Given the description of an element on the screen output the (x, y) to click on. 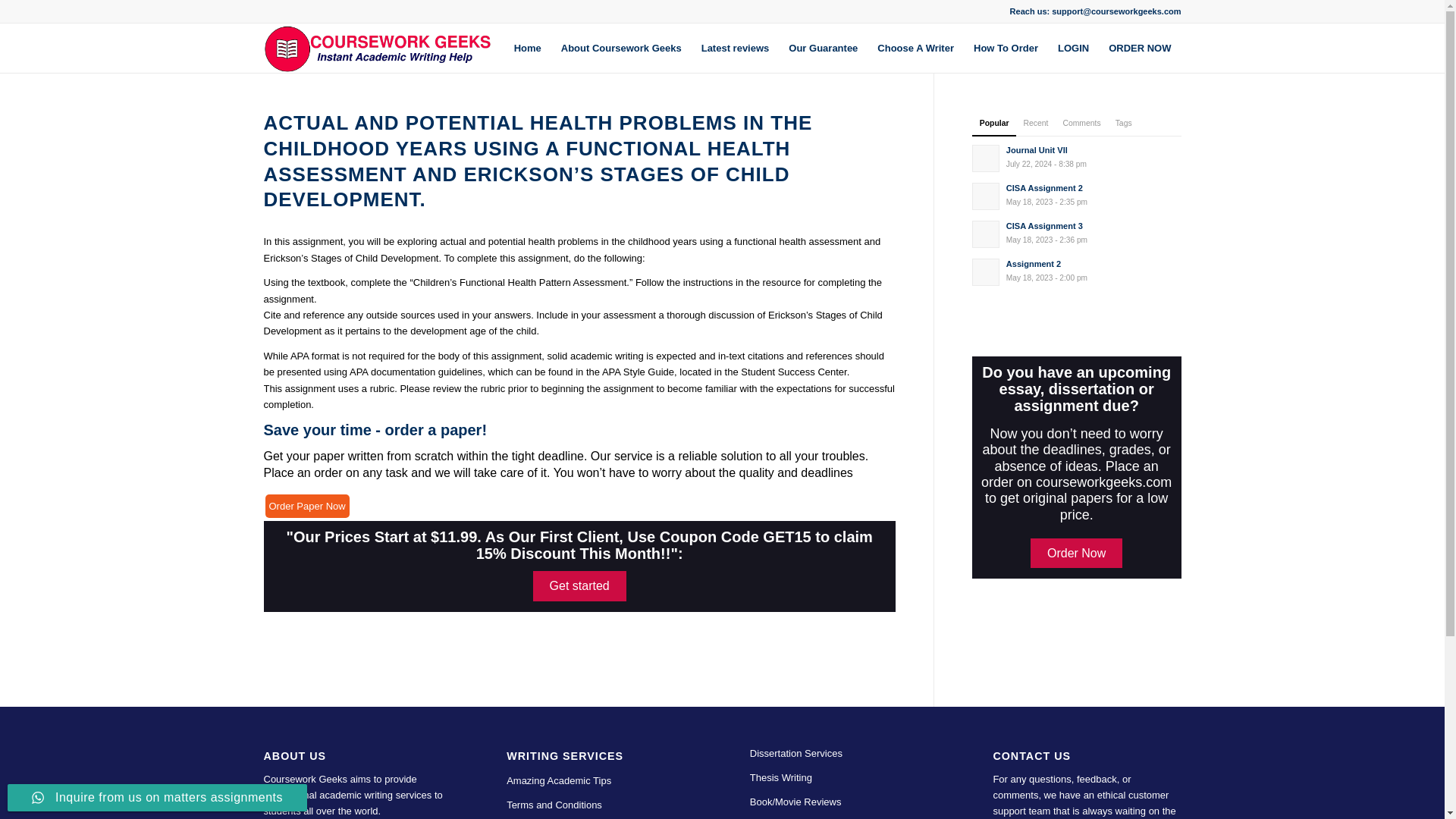
Journal Unit Vll (1076, 156)
ORDER NOW (1076, 270)
CISA Assignment 3 (1139, 47)
Home (1076, 232)
Order Paper Now (527, 47)
Assignment 2 (1076, 232)
LOGIN (306, 505)
How To Order (1076, 156)
Choose A Writer (1076, 270)
Order Now (1073, 47)
About Coursework Geeks (1005, 47)
